Given the description of an element on the screen output the (x, y) to click on. 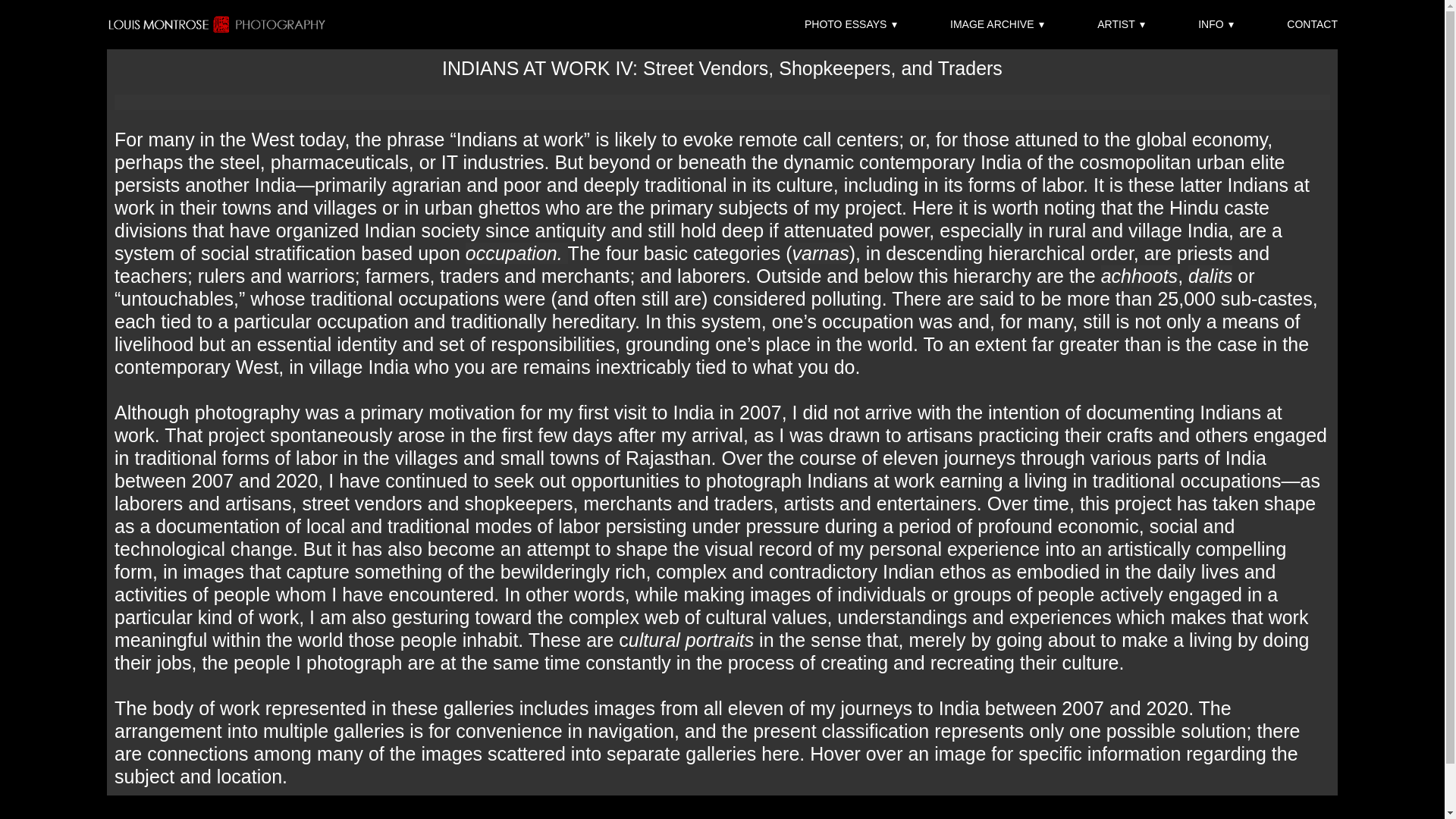
Louis Montrose Photography (217, 24)
CONTACT (1312, 24)
